Given the description of an element on the screen output the (x, y) to click on. 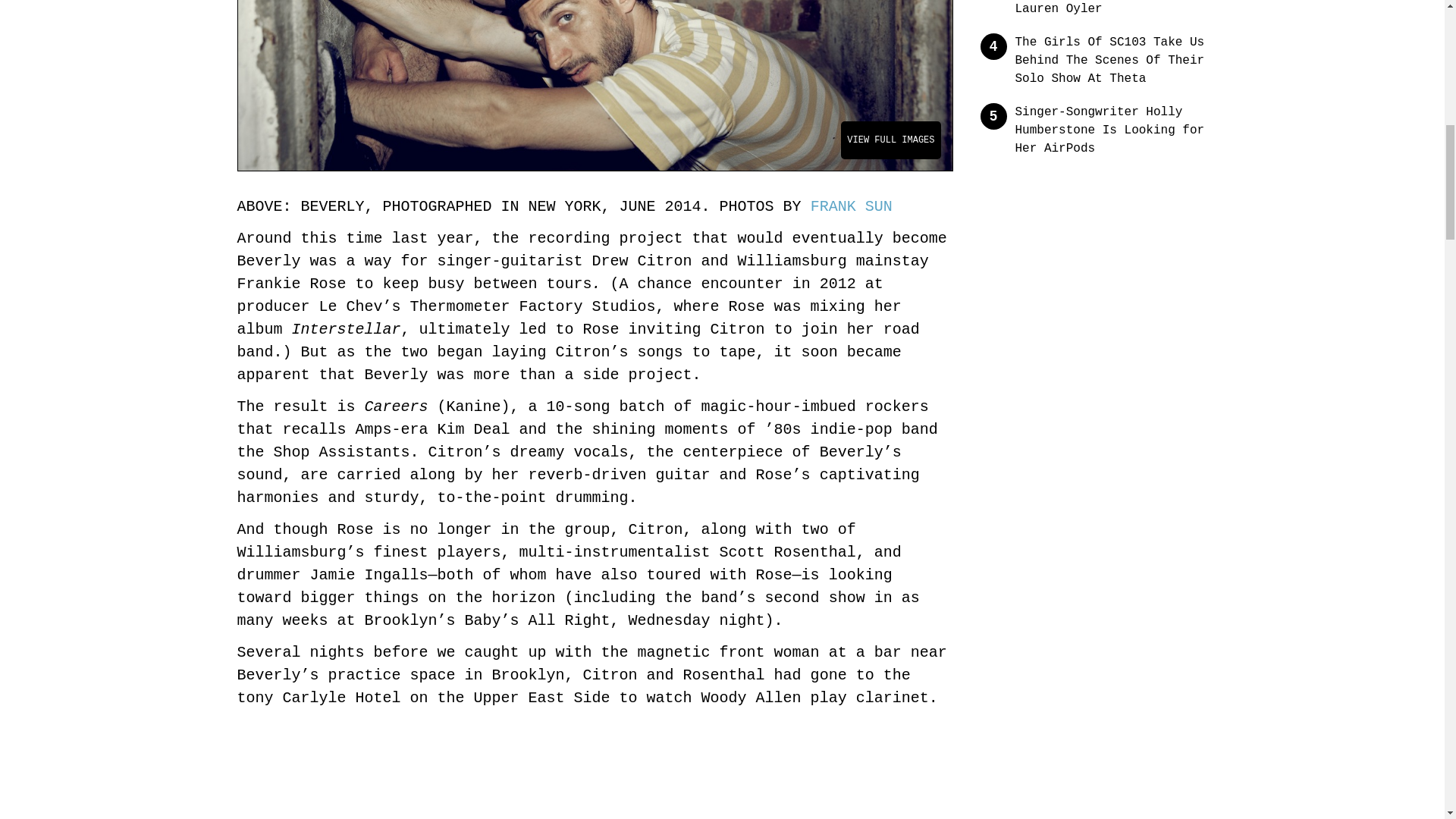
FRANK SUN (851, 206)
VIEW FULL IMAGES (890, 139)
